Given the description of an element on the screen output the (x, y) to click on. 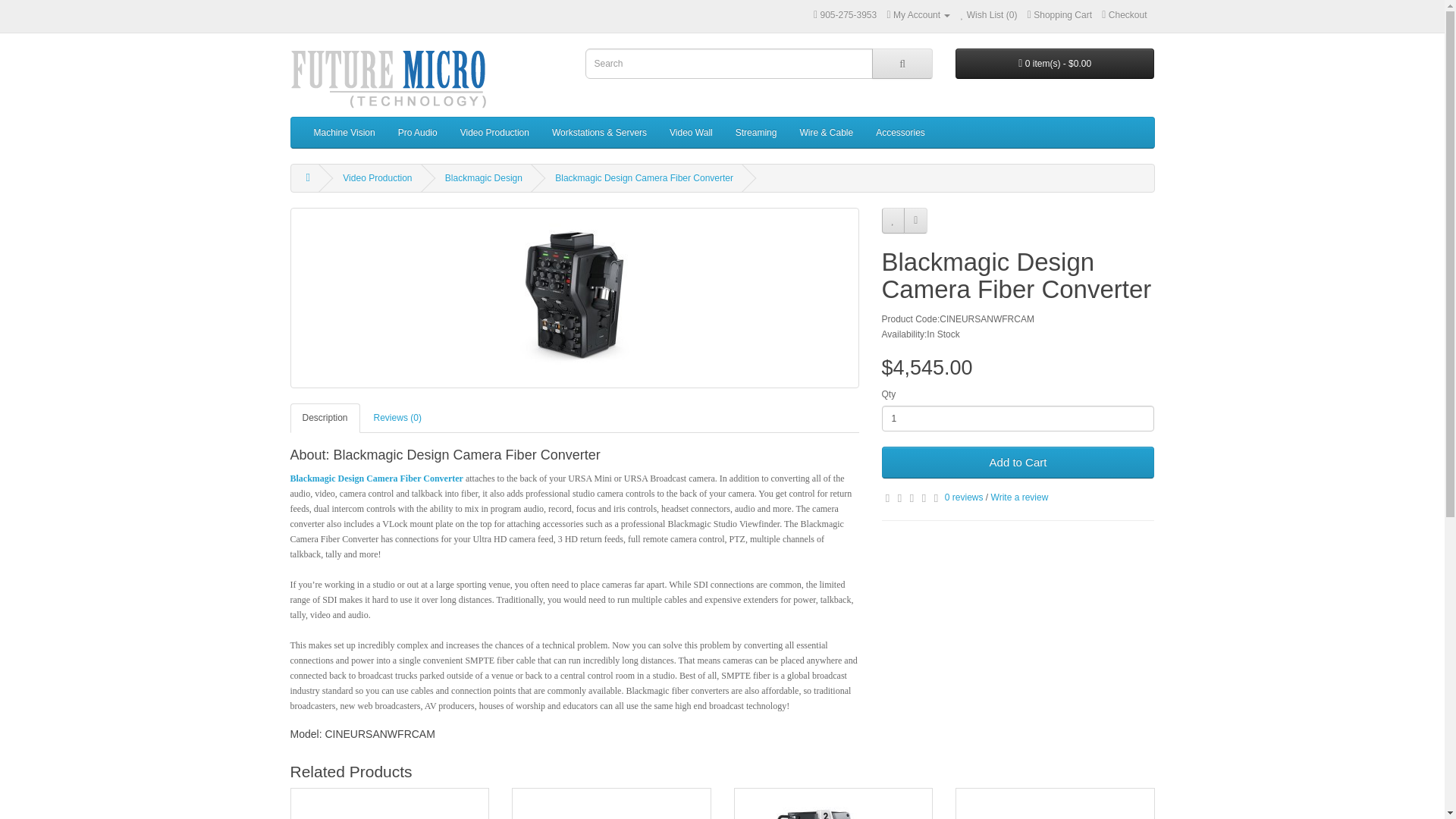
My Account (918, 14)
1 (1017, 418)
Blackmagic Design Camera Fiber Converter (574, 298)
Blackmagic Design URSA Studio Viewfinder CINEURSANSVF2 (832, 803)
Checkout (1124, 14)
Blackmagic Design Camera Fiber Converter (574, 297)
Future Micro Technology (389, 78)
Blackmagic Design Studio Fiber Converter CINEURSANWFRSTUD (1054, 803)
Blackmagic Design ATEM Studio Converter 2 (611, 803)
Shopping Cart (1059, 14)
My Account (918, 14)
Blackmagic Design ATEM Camera Converter (389, 803)
Machine Vision (343, 132)
Checkout (1124, 14)
Shopping Cart (1059, 14)
